Given the description of an element on the screen output the (x, y) to click on. 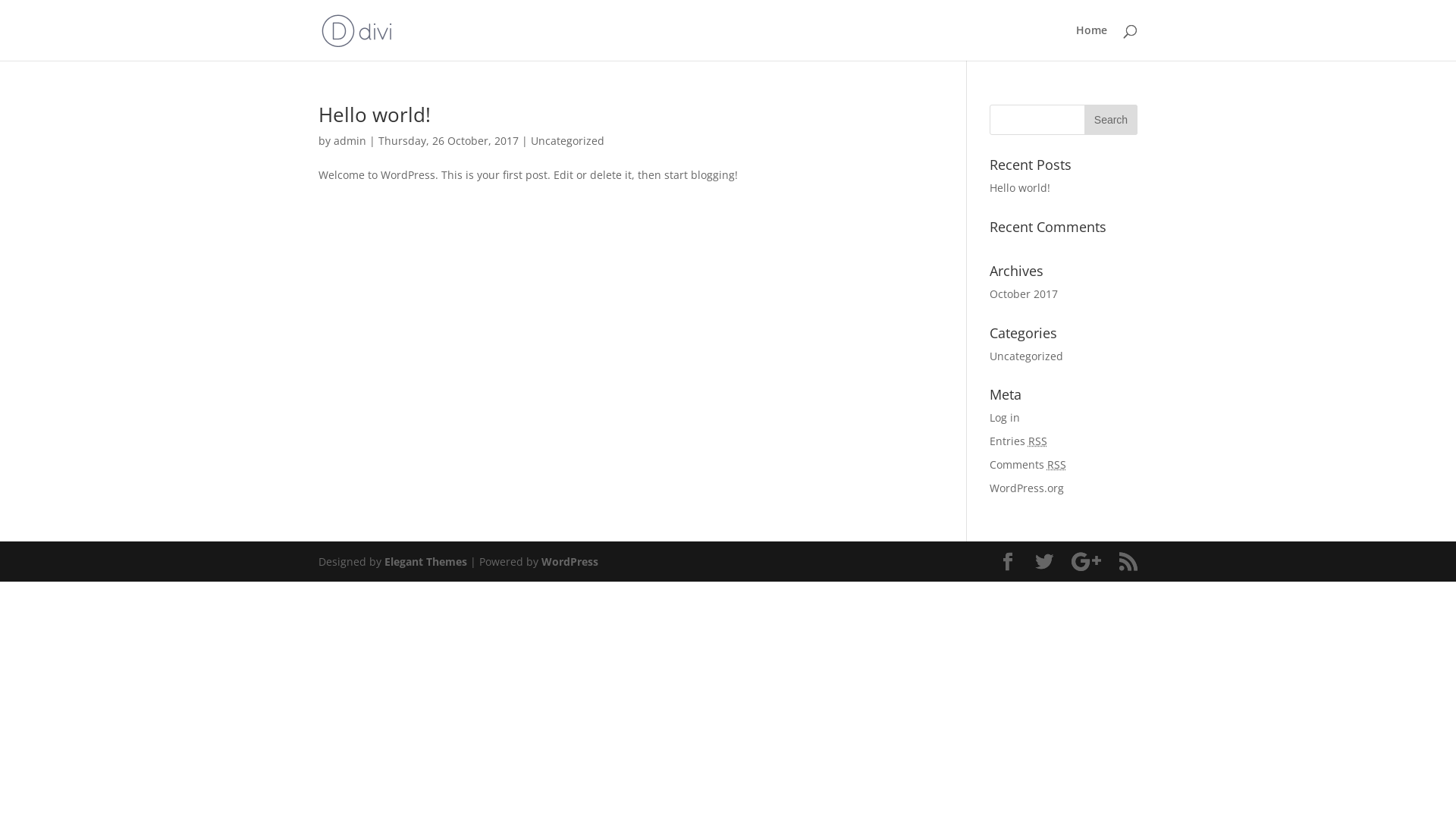
Entries RSS Element type: text (1018, 440)
Comments RSS Element type: text (1027, 464)
Hello world! Element type: text (1019, 187)
Search Element type: text (1110, 119)
Home Element type: text (1091, 42)
October 2017 Element type: text (1023, 293)
WordPress Element type: text (569, 561)
Log in Element type: text (1004, 417)
Elegant Themes Element type: text (425, 561)
admin Element type: text (349, 140)
Uncategorized Element type: text (1026, 355)
Hello world! Element type: text (374, 114)
Uncategorized Element type: text (567, 140)
WordPress.org Element type: text (1026, 487)
